Given the description of an element on the screen output the (x, y) to click on. 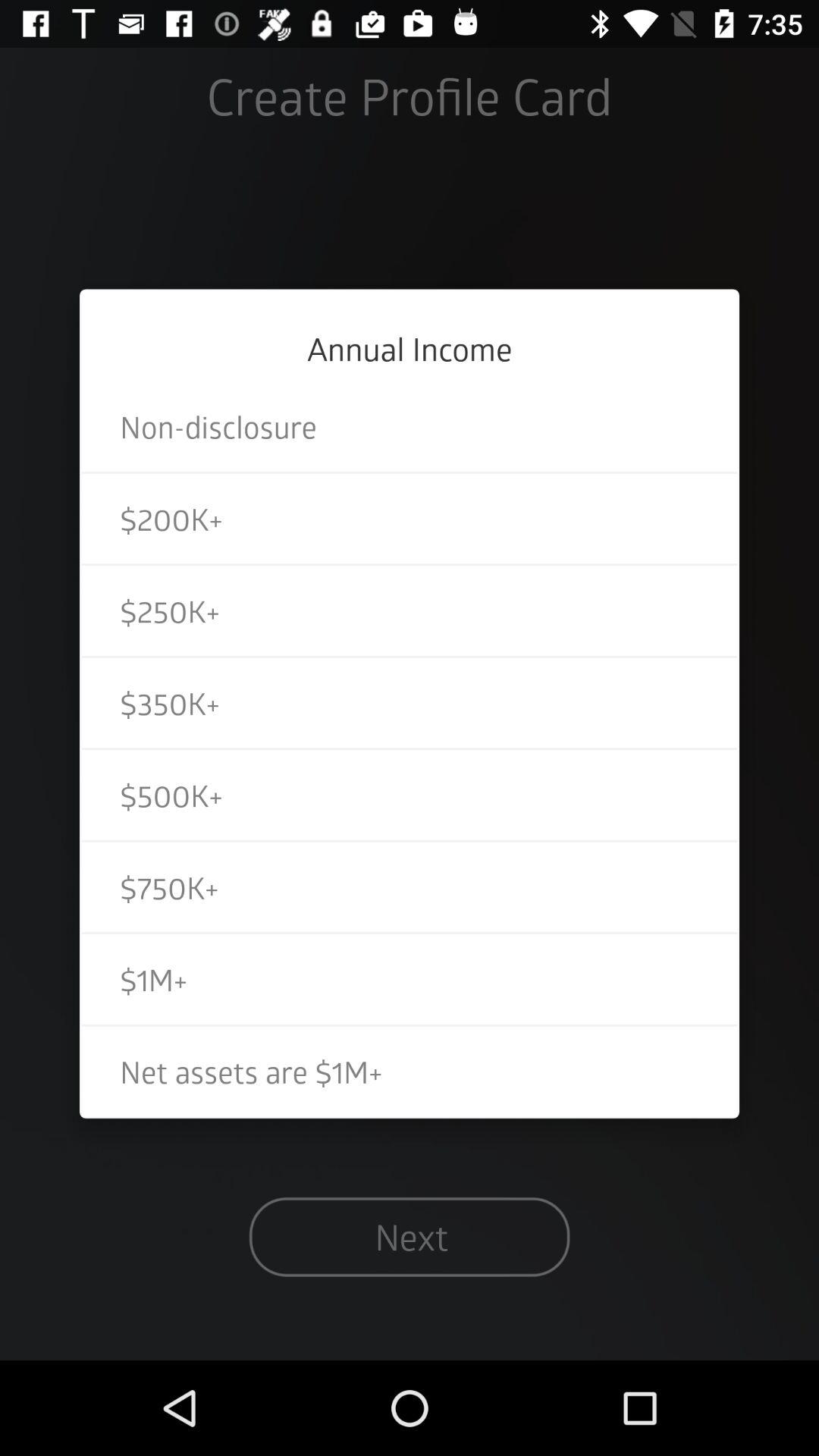
flip to non-disclosure icon (409, 426)
